Given the description of an element on the screen output the (x, y) to click on. 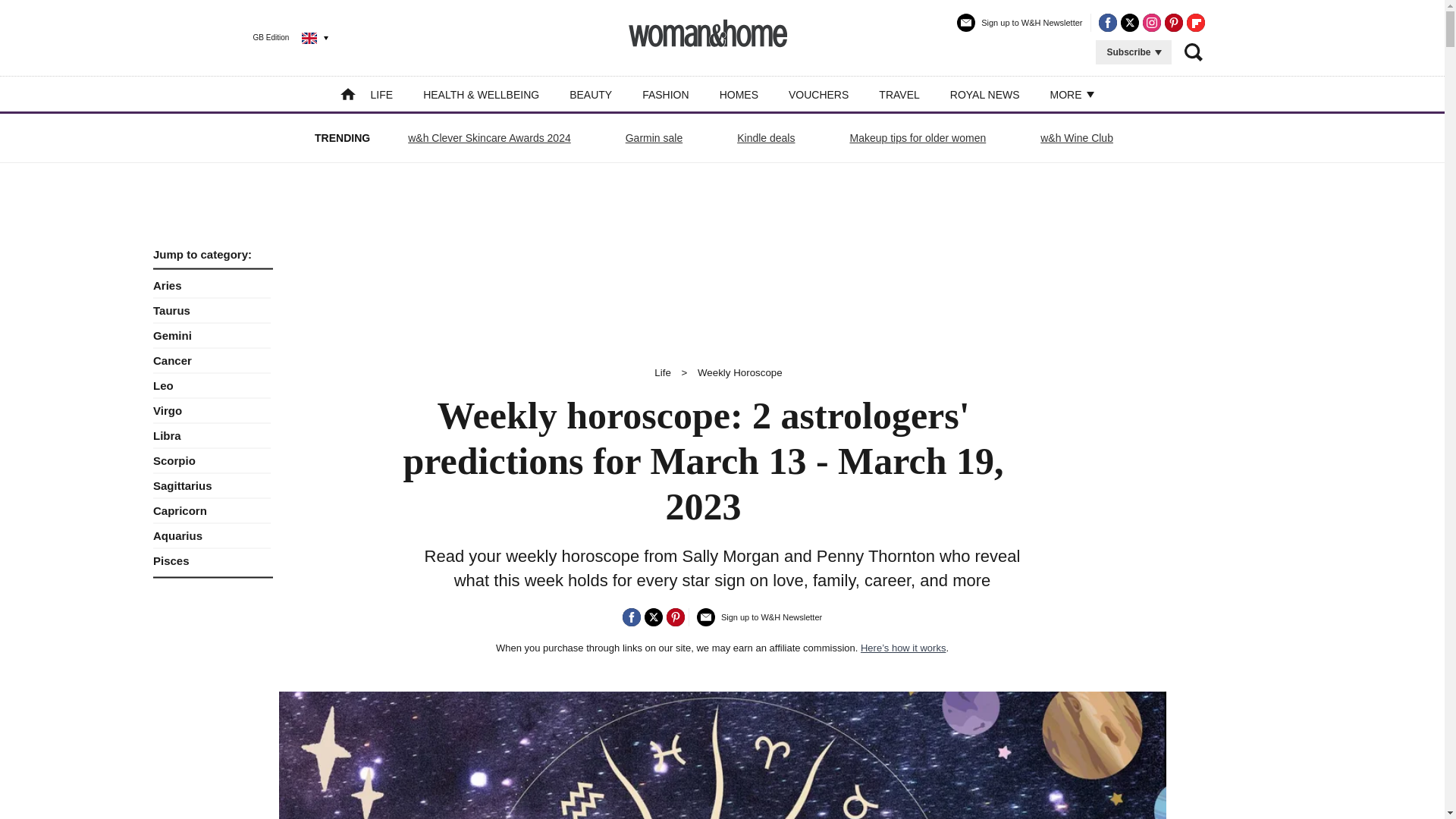
TRAVEL (898, 94)
Weekly Horoscope (740, 372)
VOUCHERS (818, 94)
ROYAL NEWS (985, 94)
Jump to category: (212, 254)
HOMES (738, 94)
GB Edition (279, 37)
Life (662, 372)
Garmin sale (653, 137)
Kindle deals (765, 137)
FASHION (665, 94)
BEAUTY (590, 94)
Makeup tips for older women (917, 137)
LIFE (382, 94)
